Given the description of an element on the screen output the (x, y) to click on. 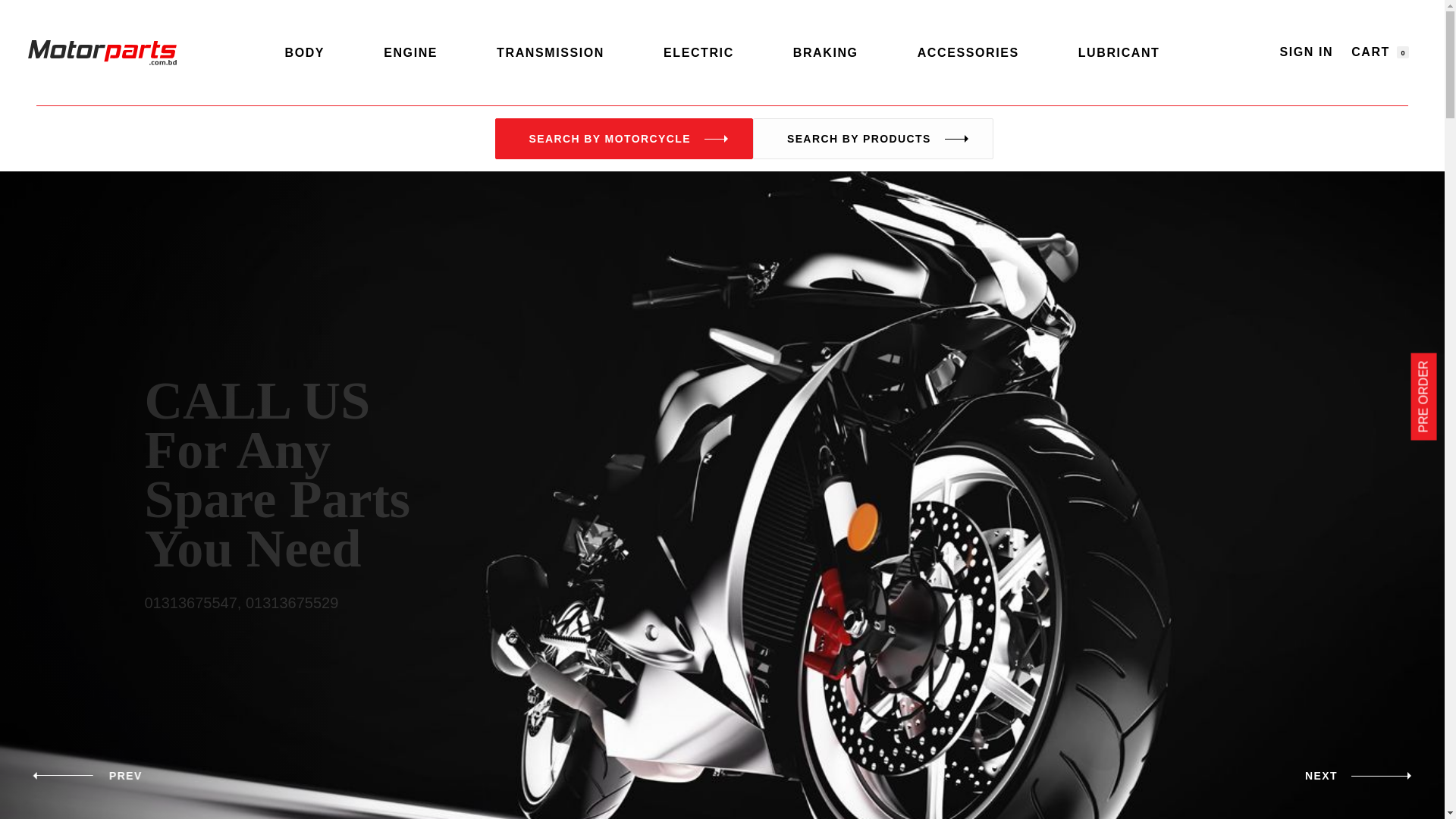
BRAKING Element type: text (825, 52)
NEXT Element type: text (1361, 775)
BODY Element type: text (305, 52)
PREV Element type: text (91, 775)
SEARCH BY PRODUCTS Element type: text (873, 138)
SEARCH BY MOTORCYCLE Element type: text (623, 138)
TRANSMISSION Element type: text (550, 52)
LUBRICANT Element type: text (1119, 52)
ENGINE Element type: text (410, 52)
ACCESSORIES Element type: text (968, 52)
ELECTRIC Element type: text (698, 52)
